Given the description of an element on the screen output the (x, y) to click on. 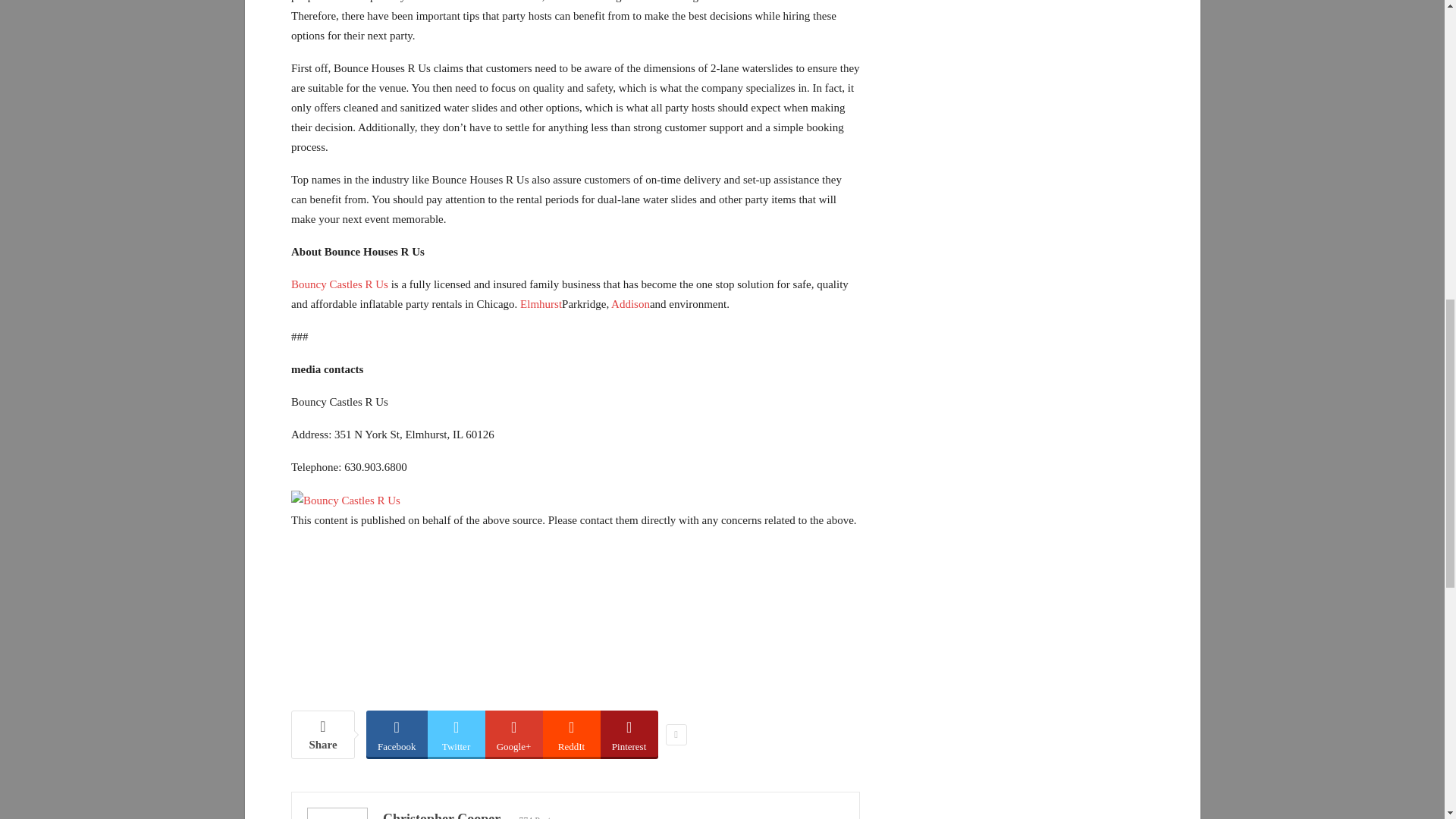
Bouncy Castles R Us (339, 284)
ReddIt (571, 733)
Addison (630, 304)
Elmhurst (540, 304)
Twitter (456, 733)
Facebook (397, 733)
